Given the description of an element on the screen output the (x, y) to click on. 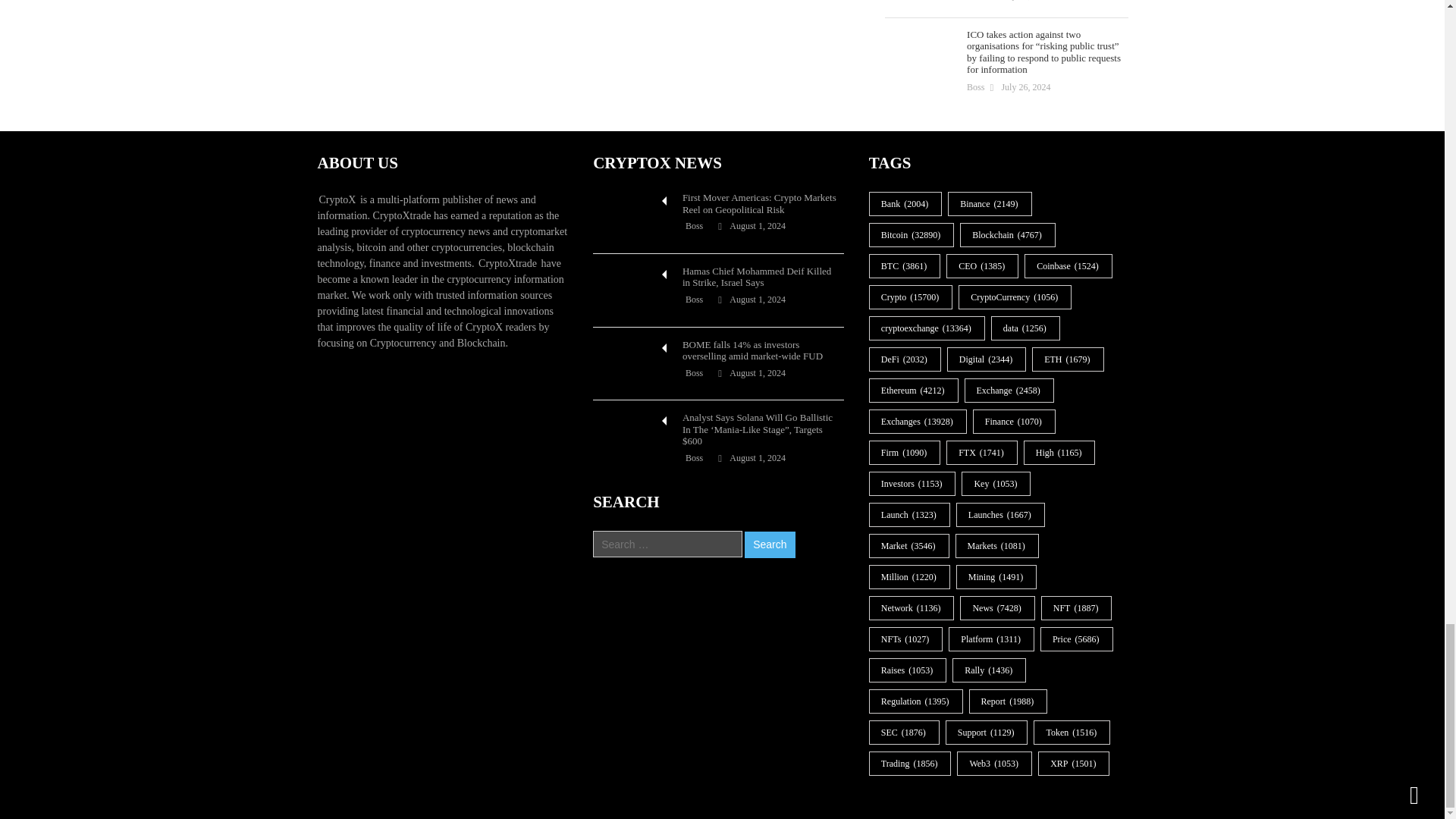
Search (769, 544)
Search (769, 544)
